Given the description of an element on the screen output the (x, y) to click on. 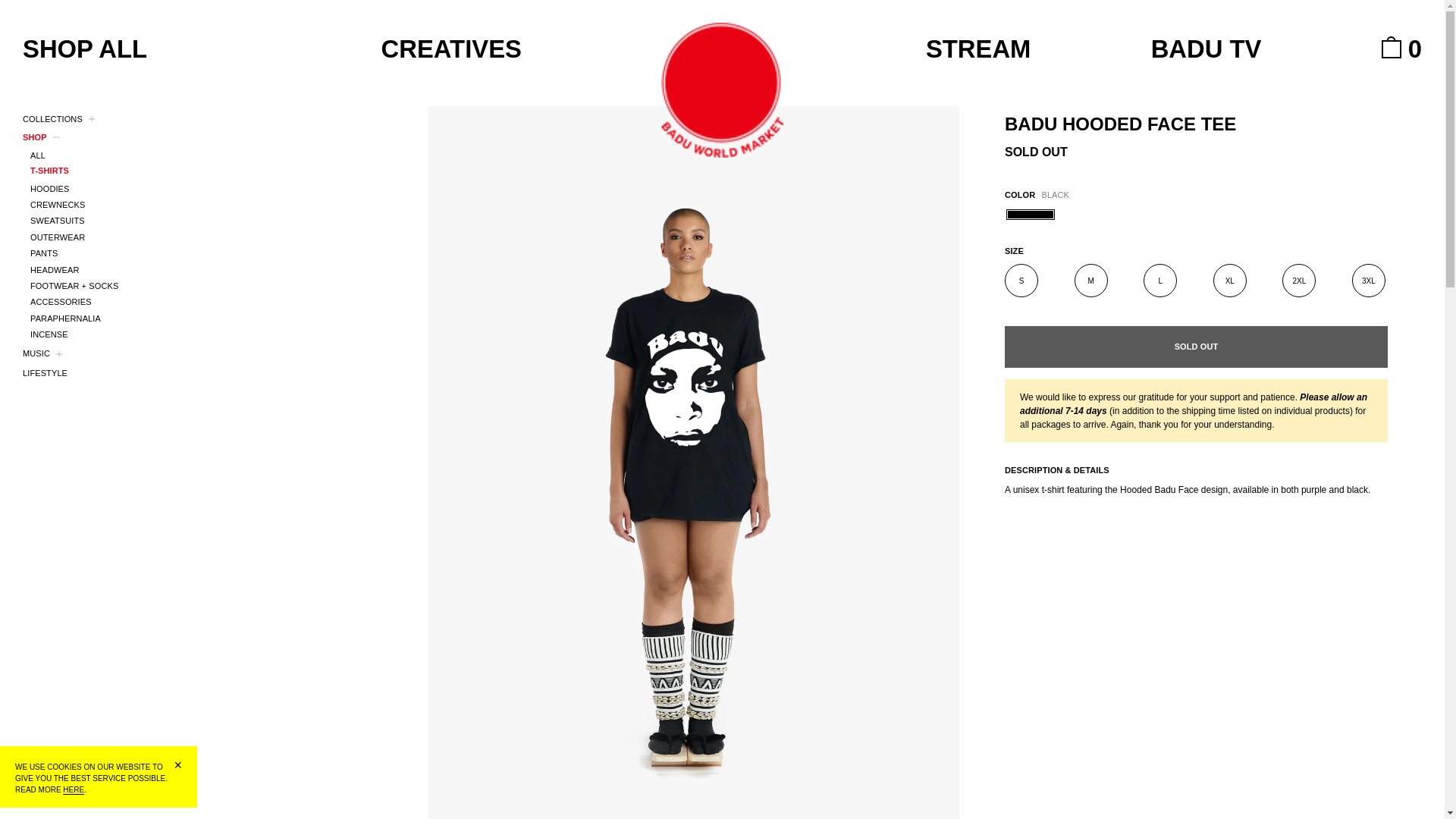
SWEATSUITS (192, 220)
T-SHIRTS (192, 170)
SHOP (189, 137)
COLLECTIONS (189, 119)
CREWNECKS (192, 204)
HOODIES (192, 188)
ALL (192, 155)
